Given the description of an element on the screen output the (x, y) to click on. 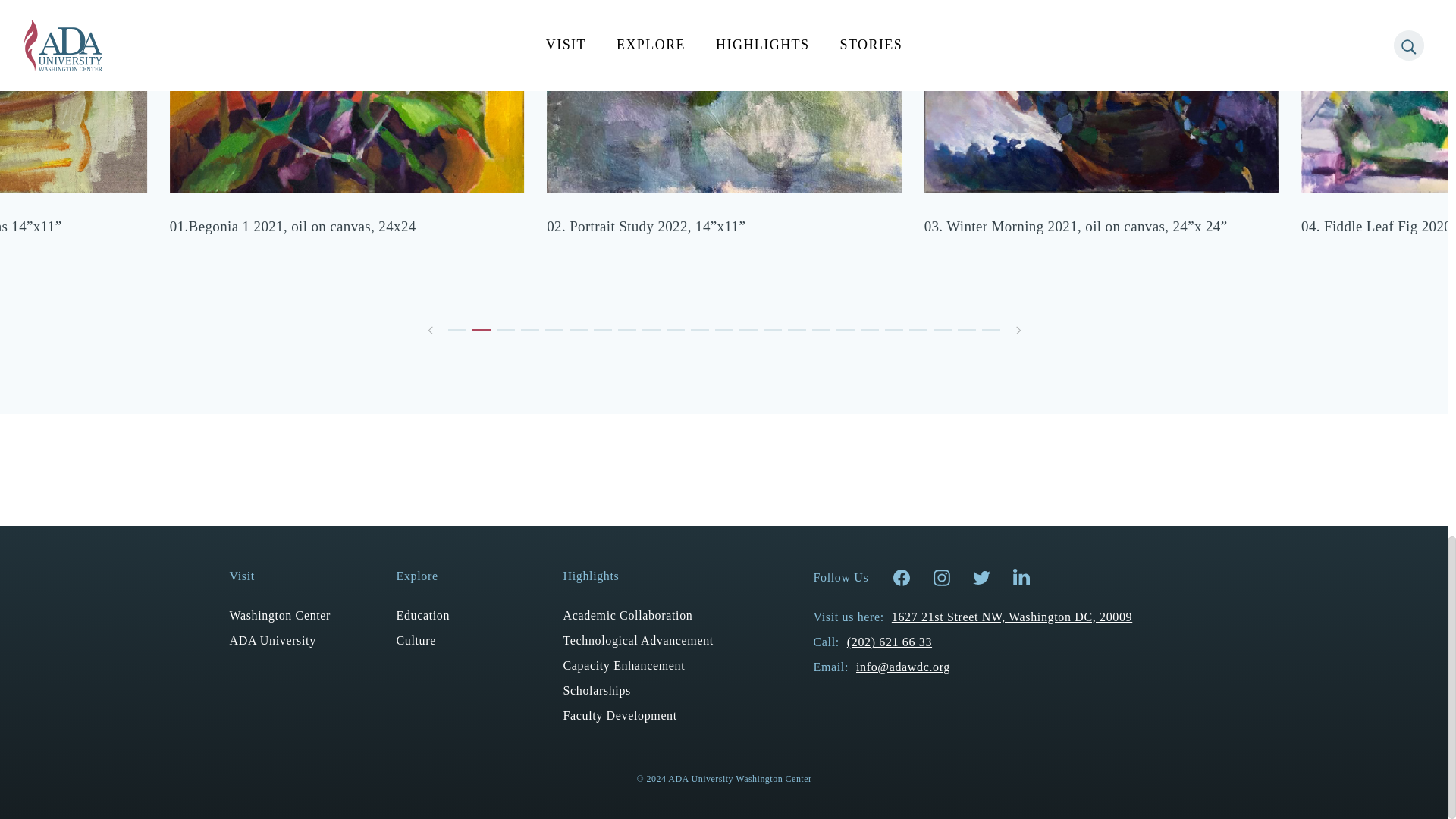
Education (422, 615)
Faculty Development (619, 715)
Capacity Enhancement (623, 665)
Culture (415, 640)
Technological Advancement (637, 640)
Academic Collaboration (627, 615)
Scholarships (596, 689)
1627 21st Street NW, Washington DC, 20009 (1011, 616)
Washington Center (279, 615)
ADA University (271, 640)
